Given the description of an element on the screen output the (x, y) to click on. 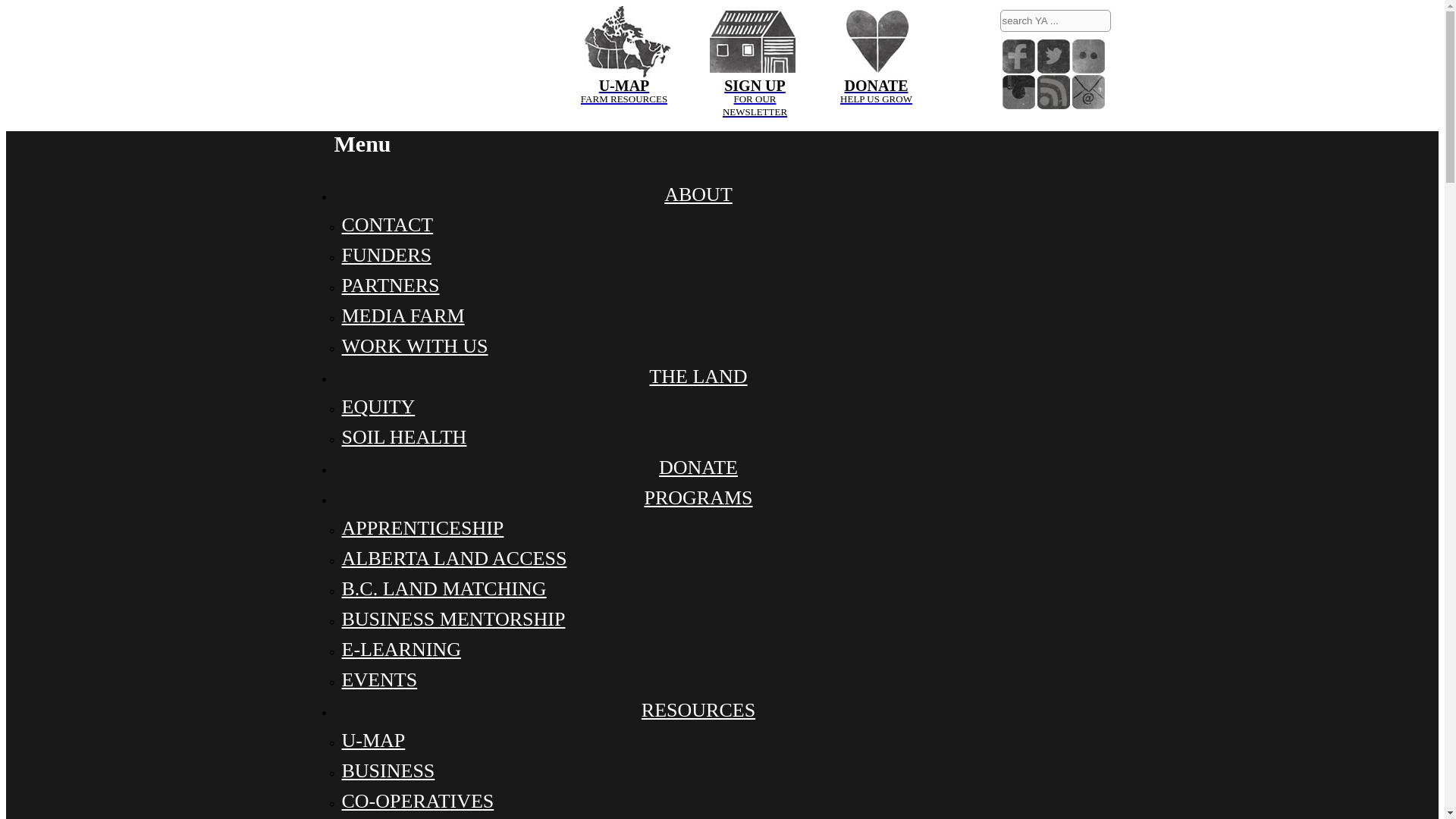
Facebook (1019, 56)
RSS (1053, 91)
Flickr (1088, 56)
Twitter (1053, 56)
Mail (1088, 91)
Instagram (623, 41)
